Given the description of an element on the screen output the (x, y) to click on. 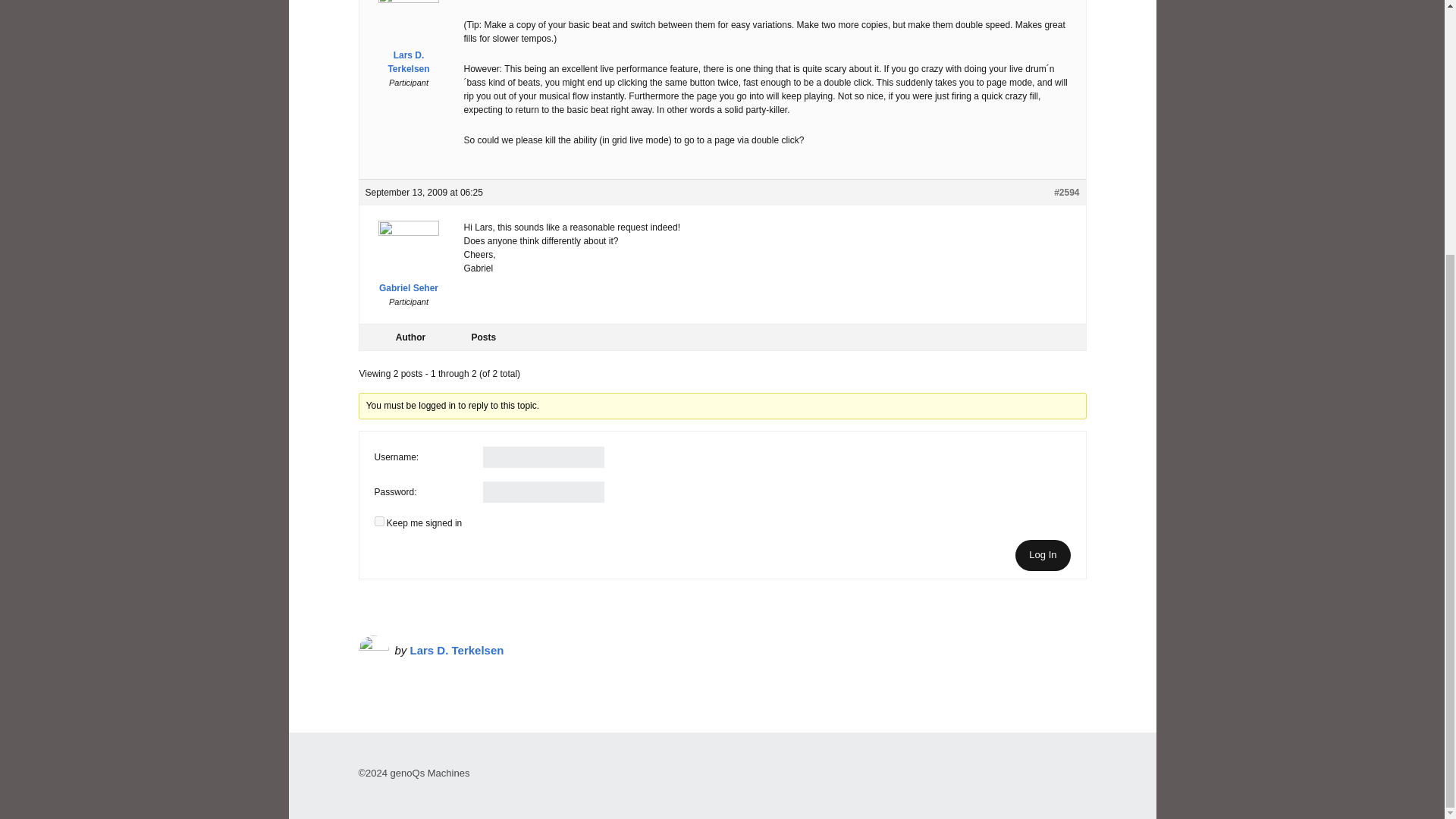
Log In (1042, 554)
View Gabriel Seher's profile (408, 260)
Gabriel Seher (408, 260)
forever (379, 521)
View Lars D. Terkelsen's profile (408, 38)
Lars D. Terkelsen (456, 649)
Lars D. Terkelsen (408, 38)
